Given the description of an element on the screen output the (x, y) to click on. 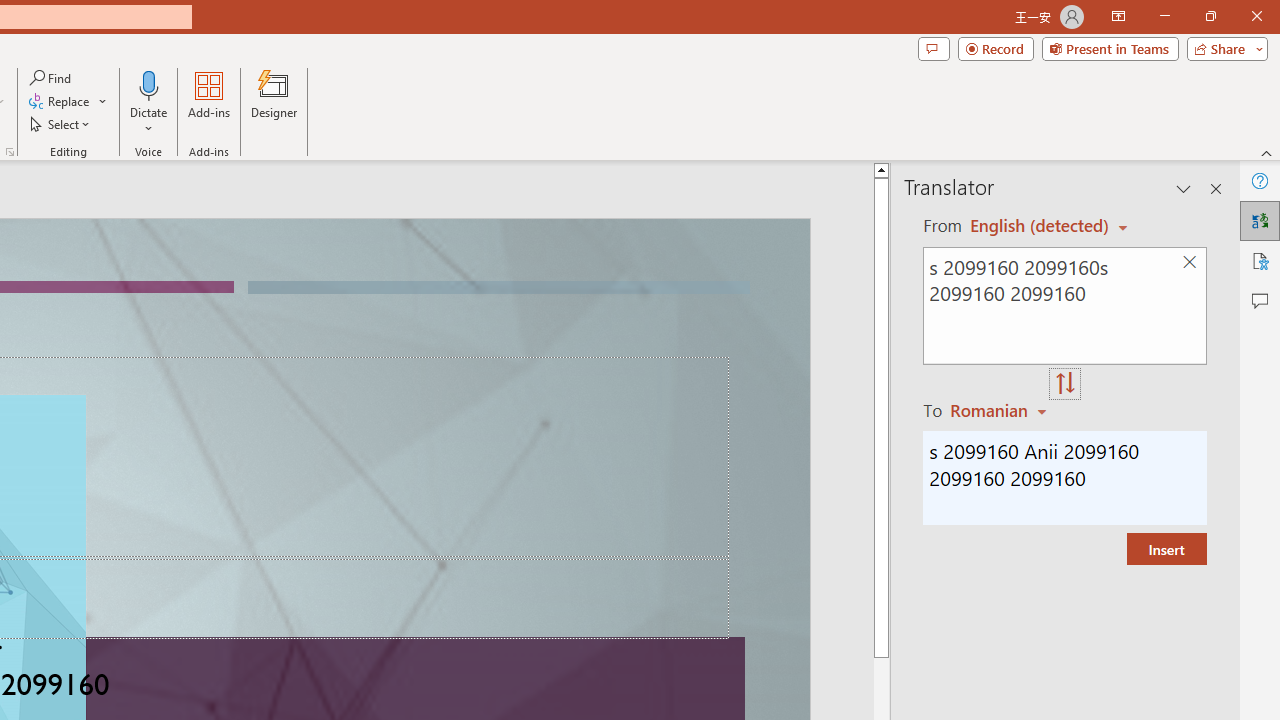
Czech (1001, 409)
Clear text (1189, 262)
